Given the description of an element on the screen output the (x, y) to click on. 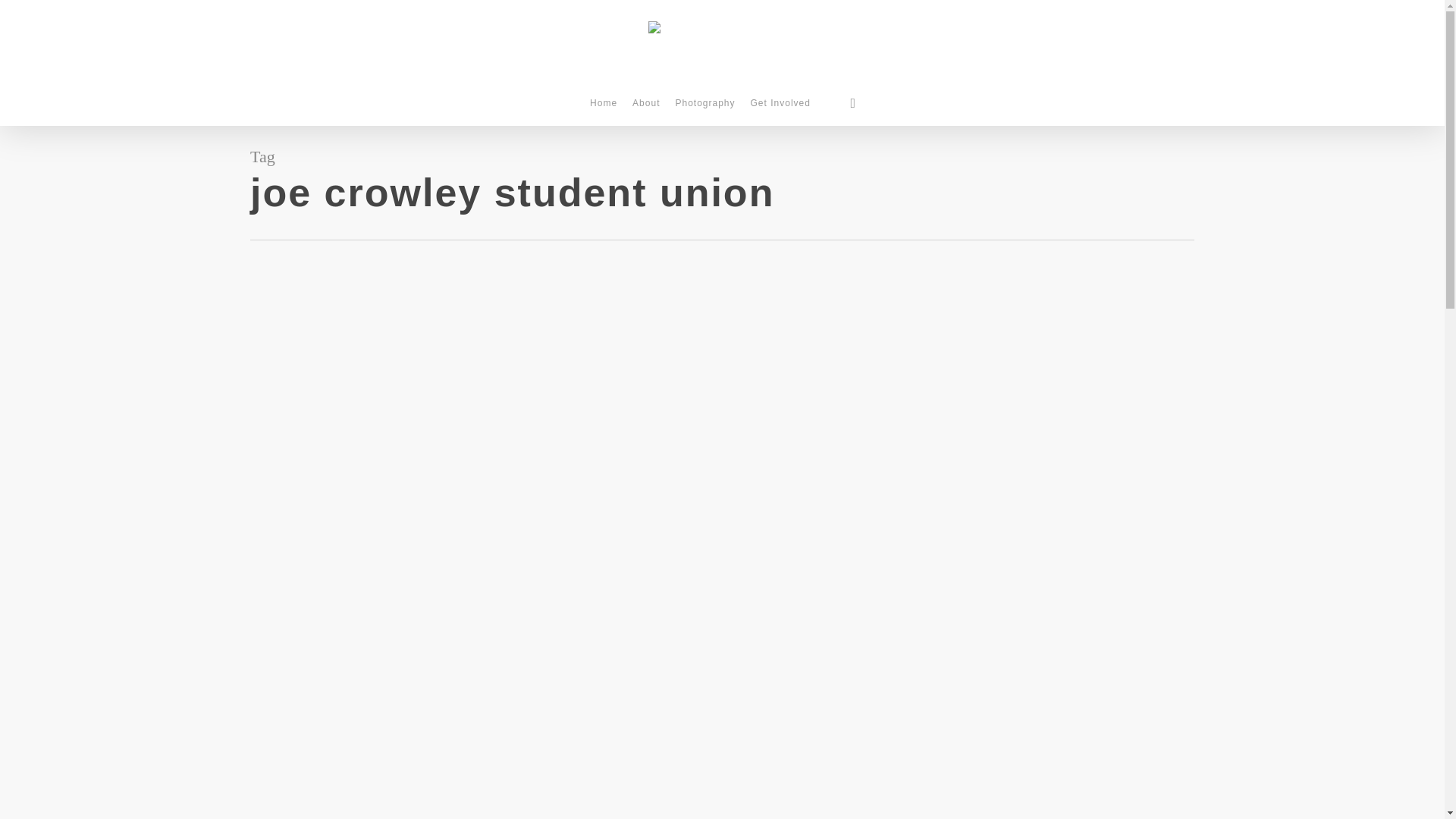
search (852, 102)
Home (603, 111)
Photography (704, 111)
Get Involved (780, 111)
About (645, 111)
